Given the description of an element on the screen output the (x, y) to click on. 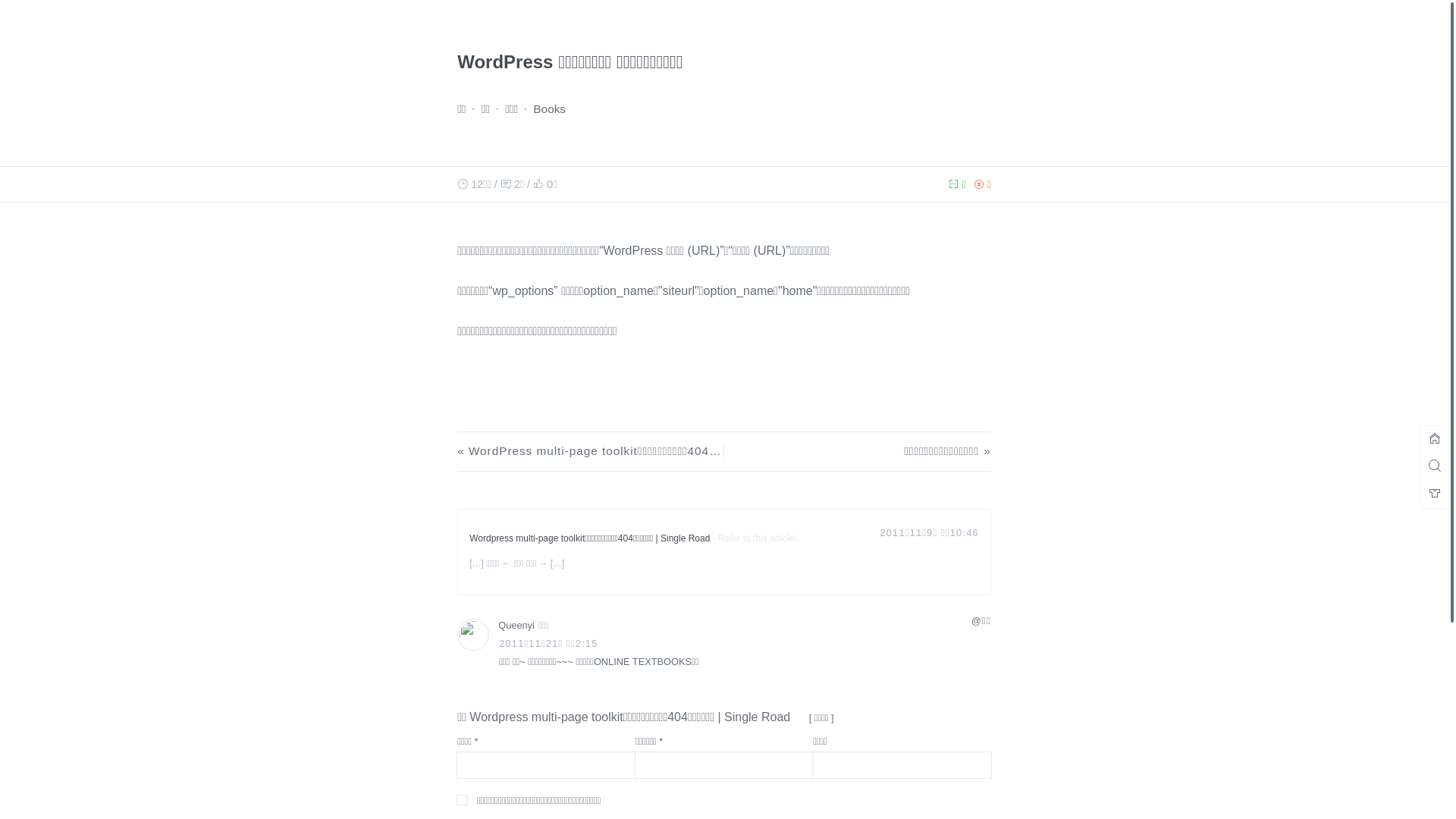
Books Element type: text (549, 108)
